Given the description of an element on the screen output the (x, y) to click on. 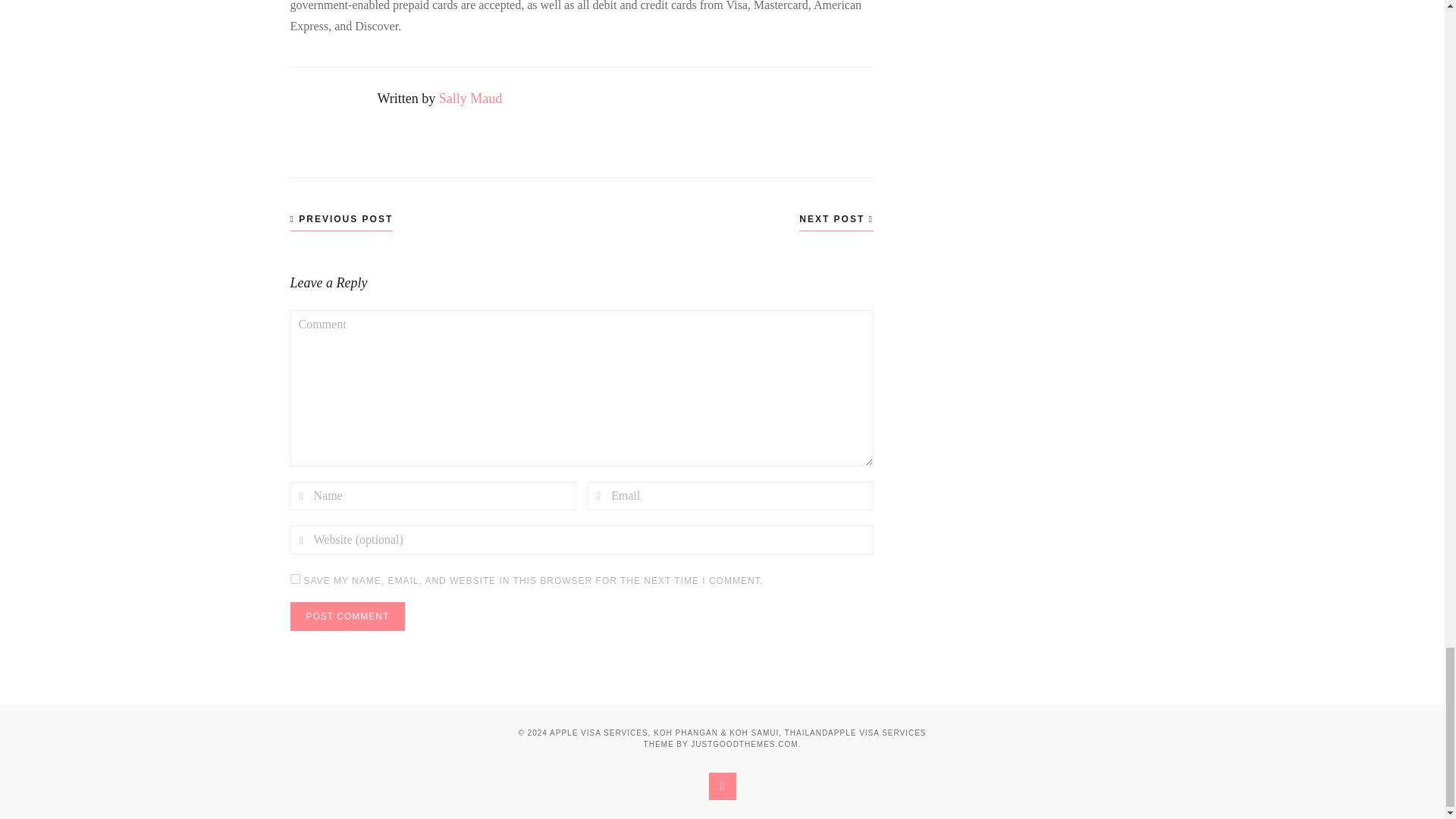
yes (294, 578)
Post Comment (346, 615)
